Given the description of an element on the screen output the (x, y) to click on. 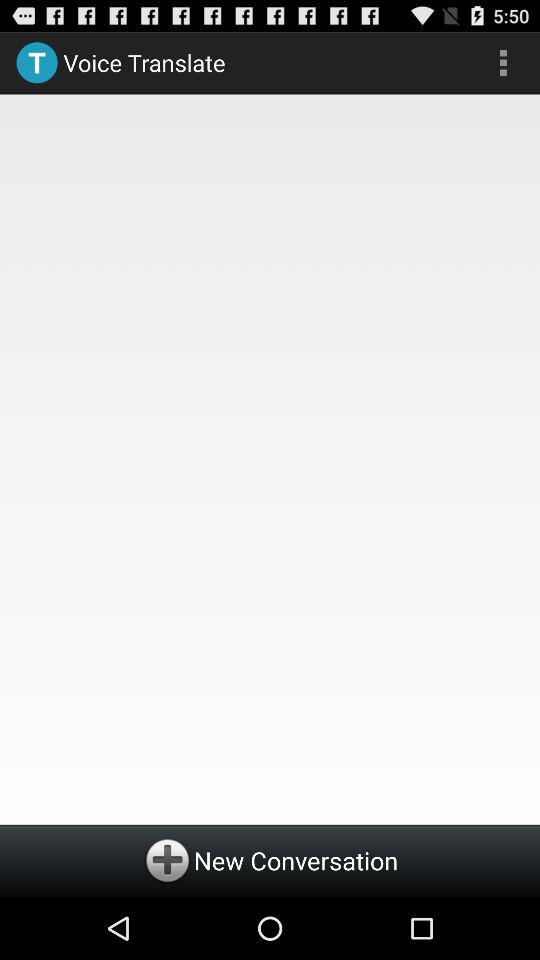
tap the item at the top right corner (503, 62)
